Given the description of an element on the screen output the (x, y) to click on. 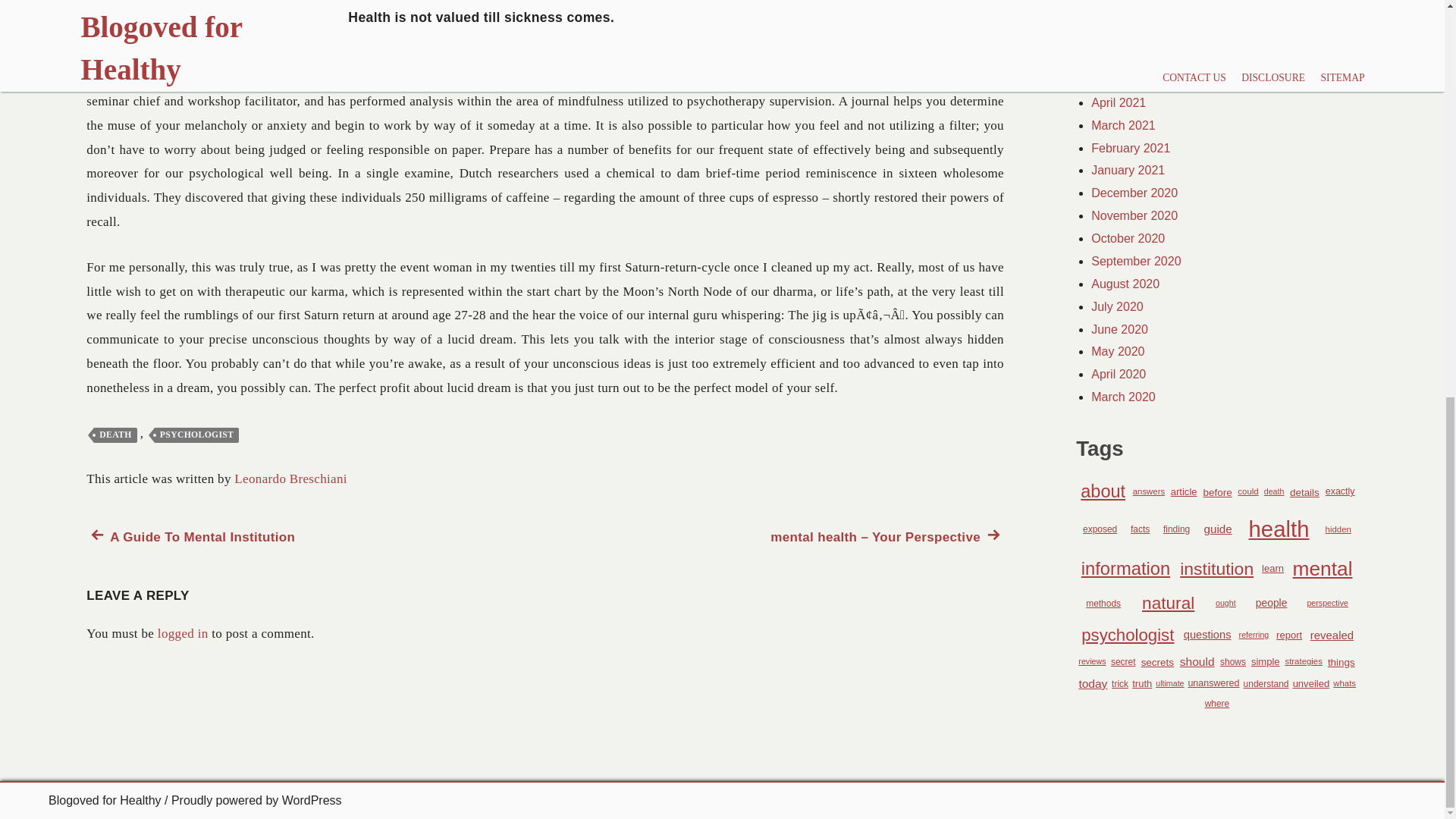
May 2023 (1117, 33)
DEATH (115, 435)
March 2021 (1123, 124)
logged in (182, 633)
January 2021 (1127, 169)
April 2021 (1117, 102)
PSYCHOLOGIST (196, 435)
May 2021 (1117, 79)
Leonardo Breschiani (290, 478)
February 2021 (1130, 147)
